Given the description of an element on the screen output the (x, y) to click on. 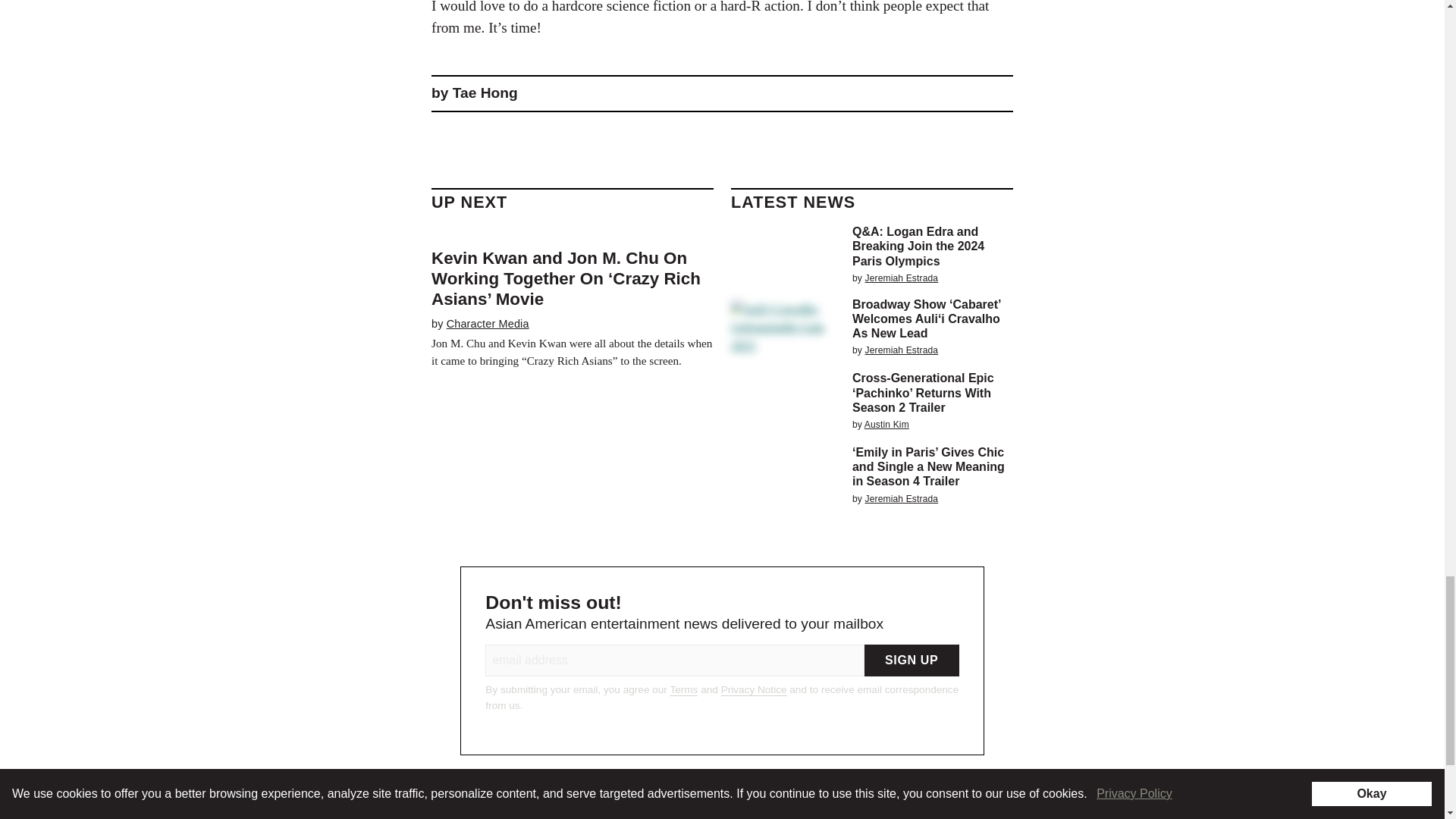
Sign Up (911, 660)
Character Media (487, 323)
Tae Hong (485, 92)
